Given the description of an element on the screen output the (x, y) to click on. 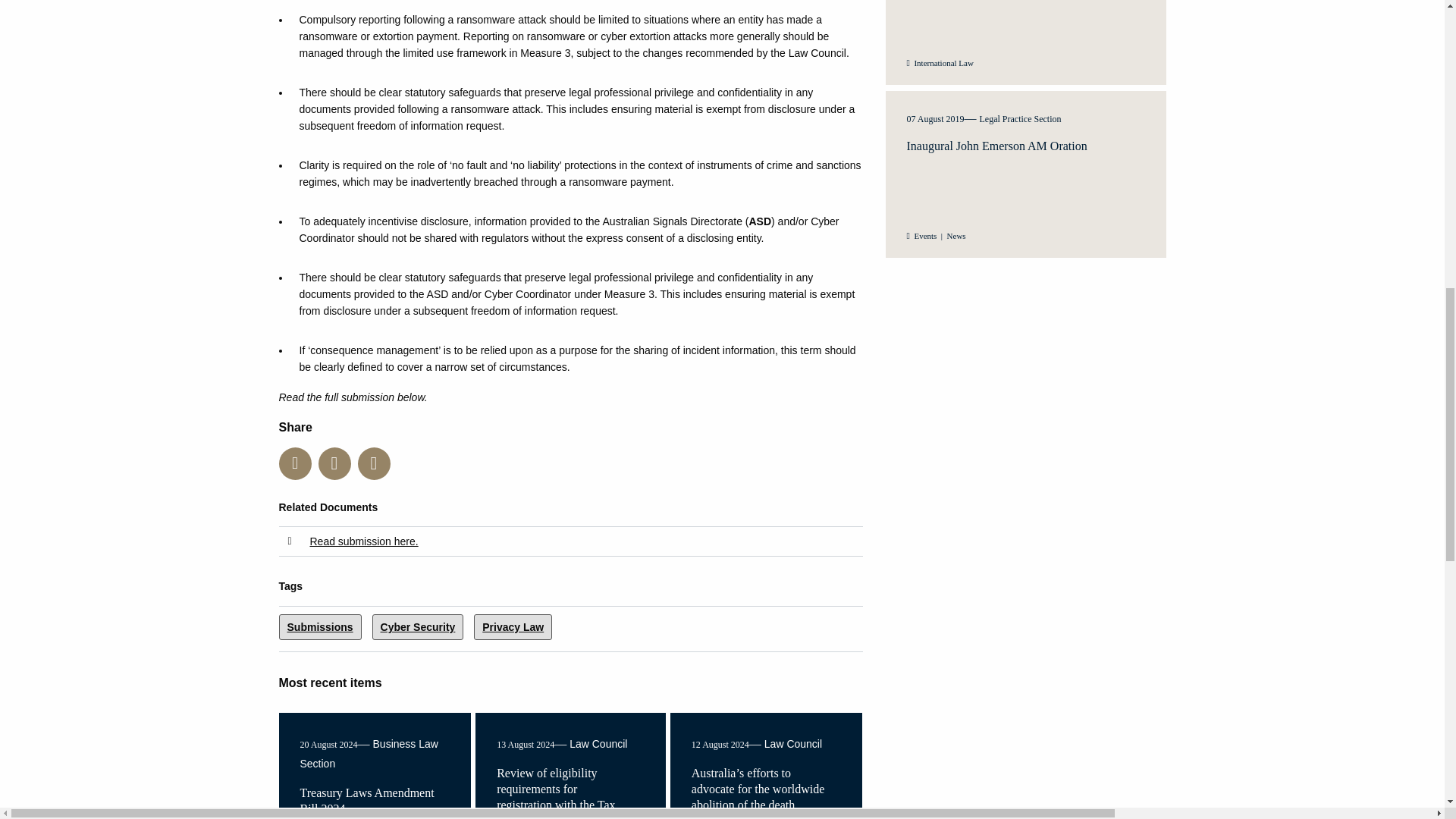
share this page on twitter (295, 463)
share this page on linkedin (334, 463)
share this page on facebook (374, 463)
